Given the description of an element on the screen output the (x, y) to click on. 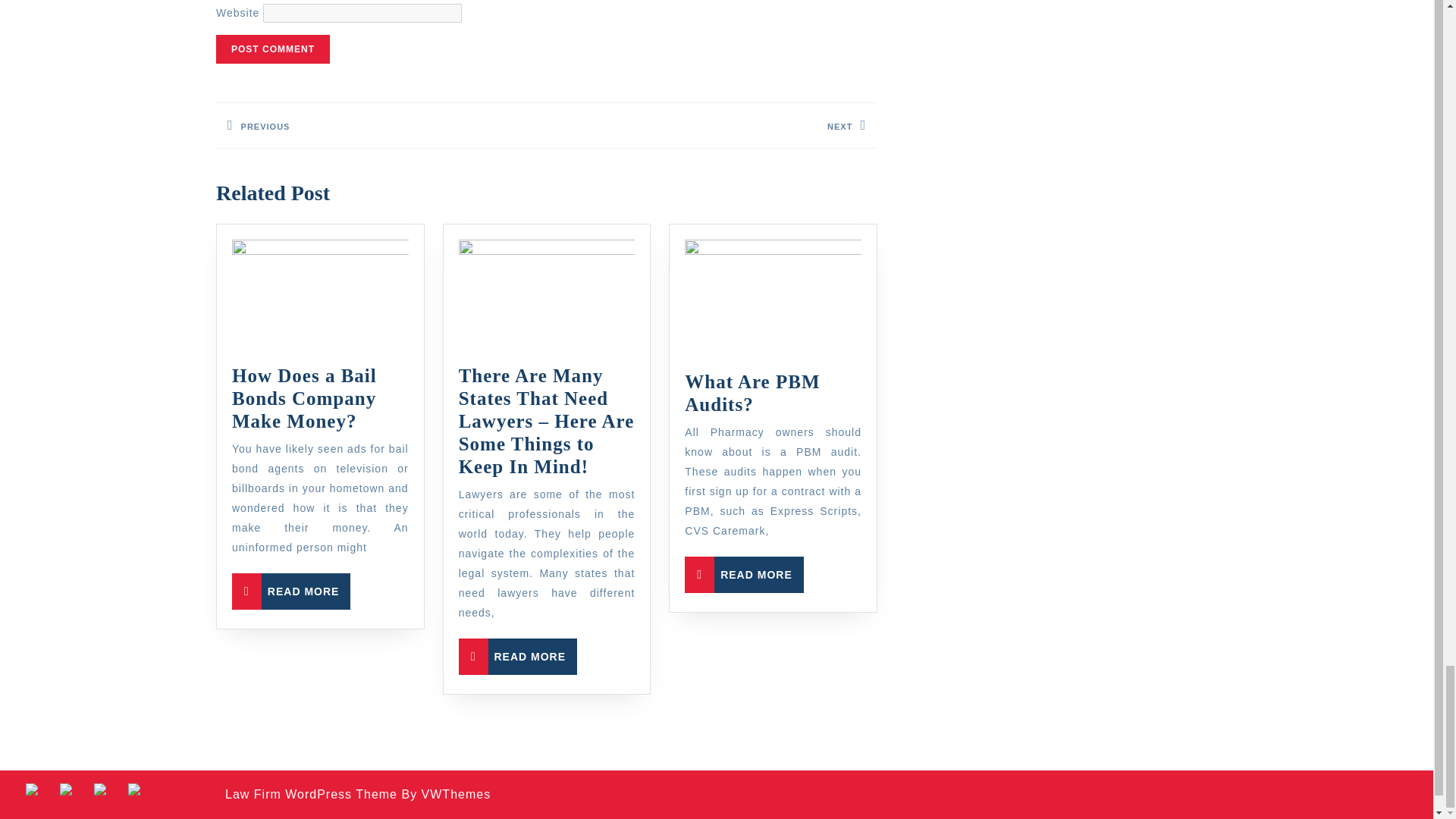
Post Comment (517, 656)
Facebook (381, 125)
RSS (272, 49)
Twitter (108, 798)
Post Comment (290, 591)
